Given the description of an element on the screen output the (x, y) to click on. 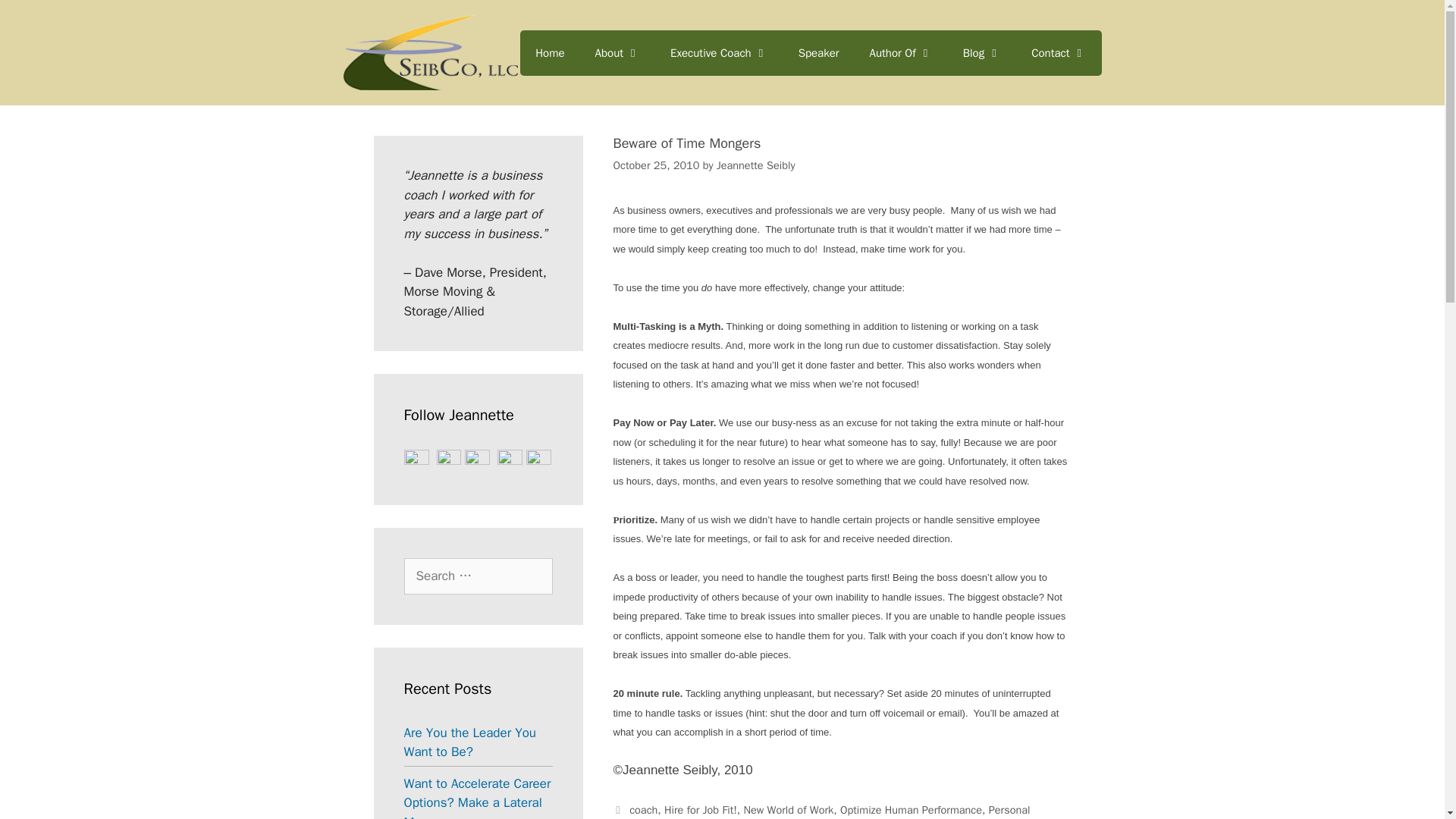
Jeannette Seibly (755, 164)
Speaker (818, 53)
Home (549, 53)
Personal Transformation (820, 811)
New World of Work (787, 809)
Optimize Human Performance (910, 809)
coach (643, 809)
Contact (1058, 53)
About (617, 53)
Hire for Job Fit! (699, 809)
